Given the description of an element on the screen output the (x, y) to click on. 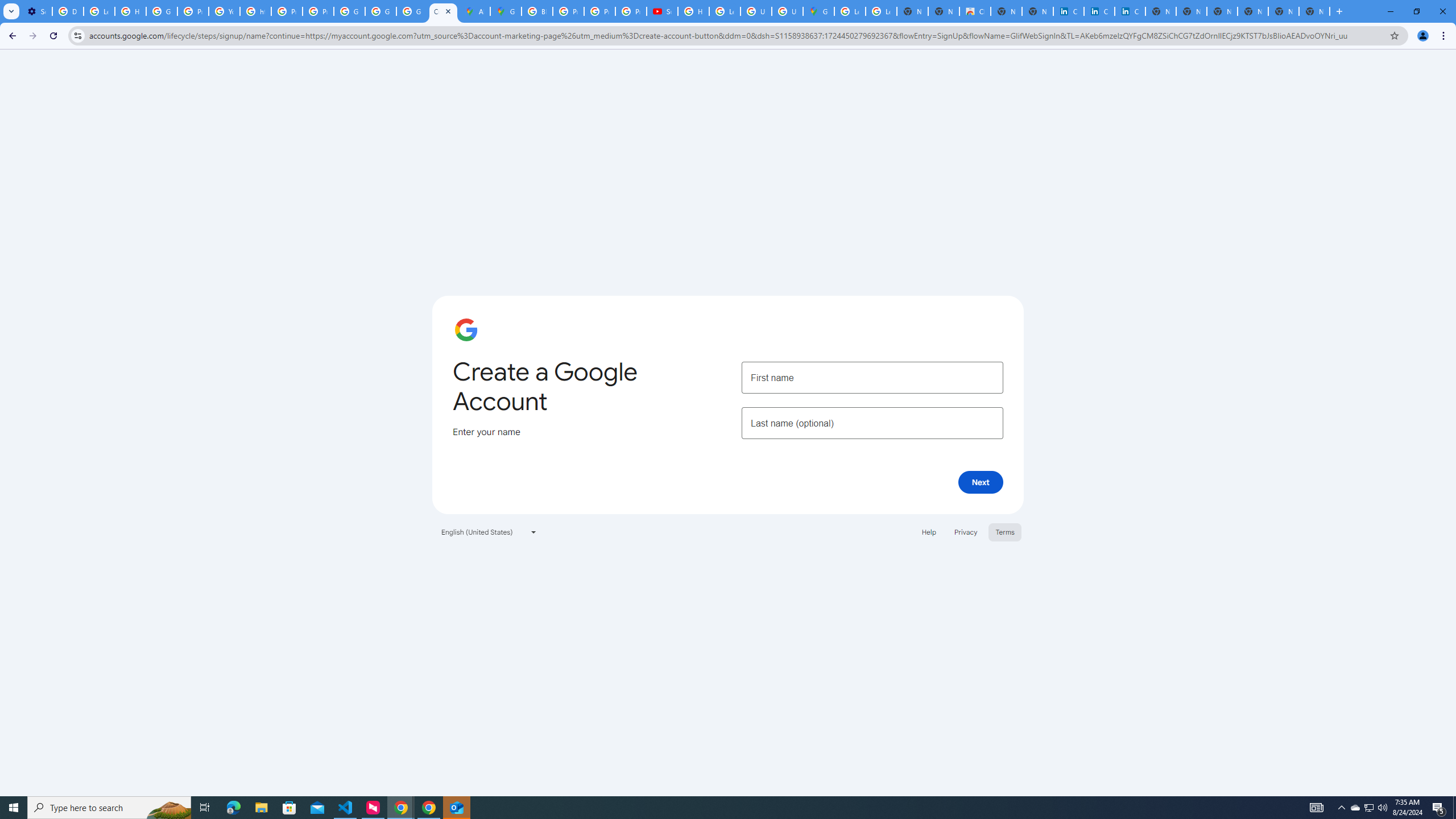
Chrome Web Store (974, 11)
New Tab (1314, 11)
Create your Google Account (443, 11)
Last name (optional) (871, 422)
Learn how to find your photos - Google Photos Help (98, 11)
Privacy Help Center - Policies Help (286, 11)
Terms (1005, 531)
